Given the description of an element on the screen output the (x, y) to click on. 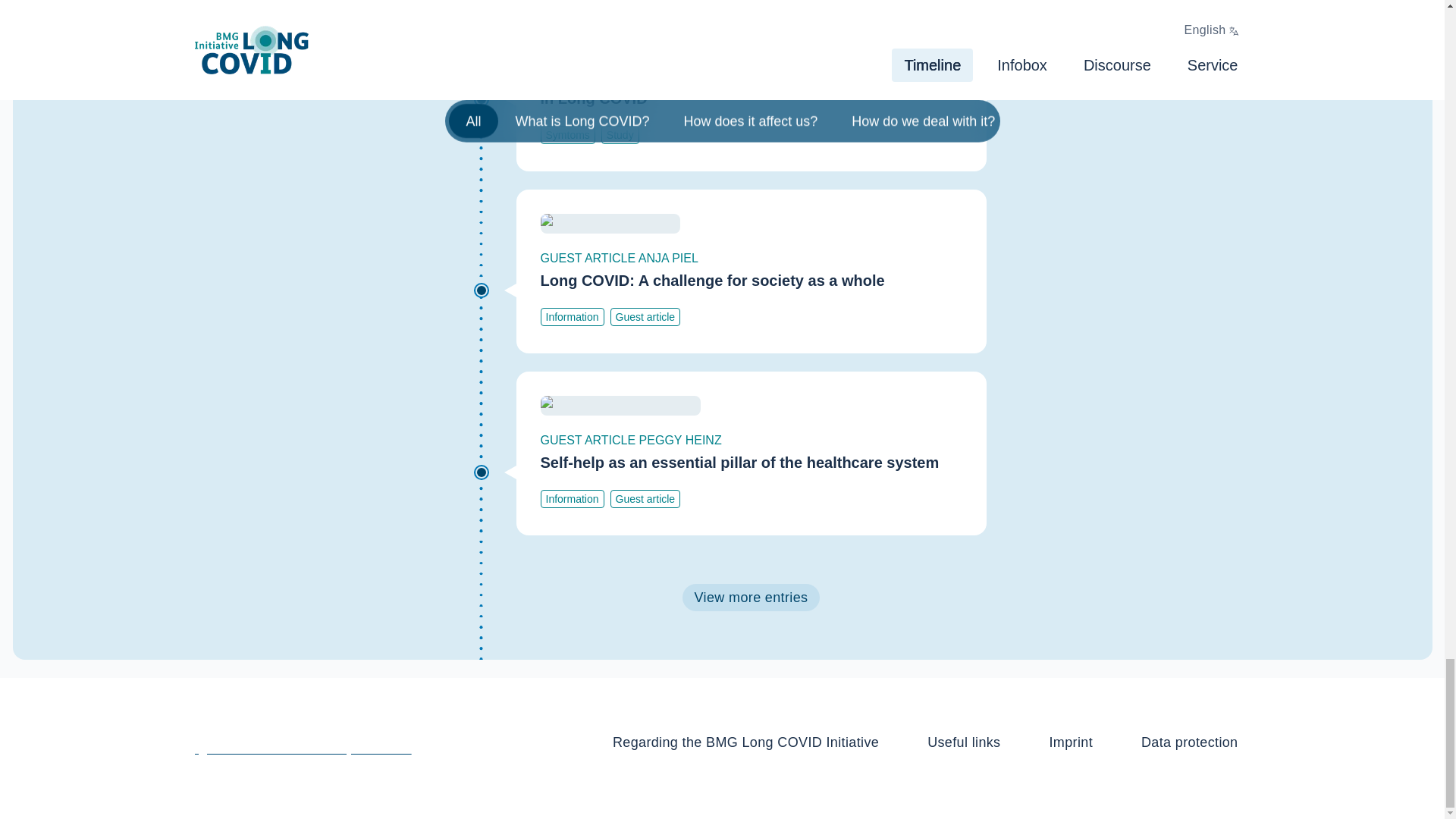
Useful links (963, 742)
Imprint (1070, 742)
Regarding the BMG Long COVID Initiative (745, 742)
Data protection (1189, 742)
View more entries (751, 596)
